Given the description of an element on the screen output the (x, y) to click on. 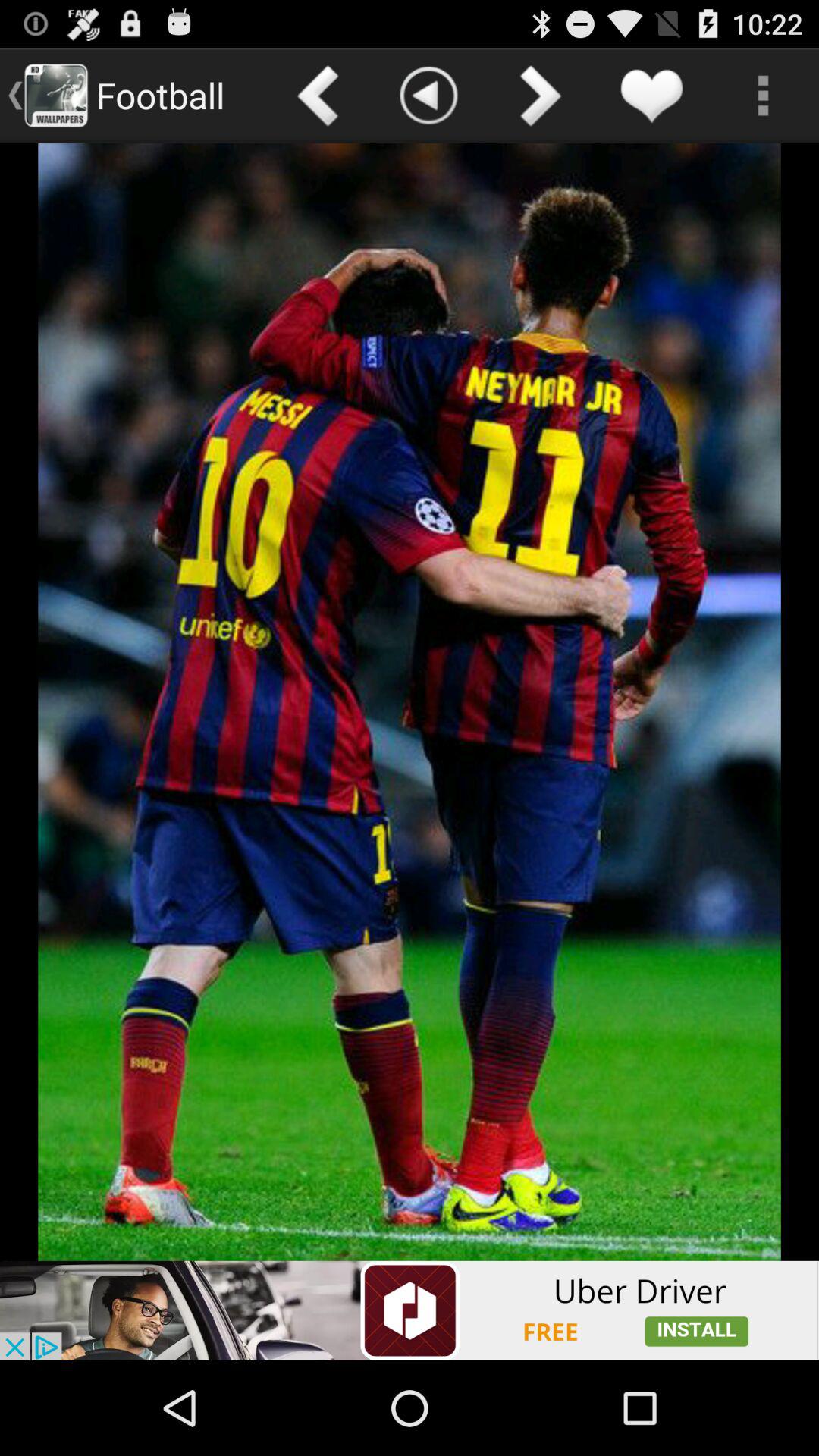
give advertisement information (409, 1310)
